Given the description of an element on the screen output the (x, y) to click on. 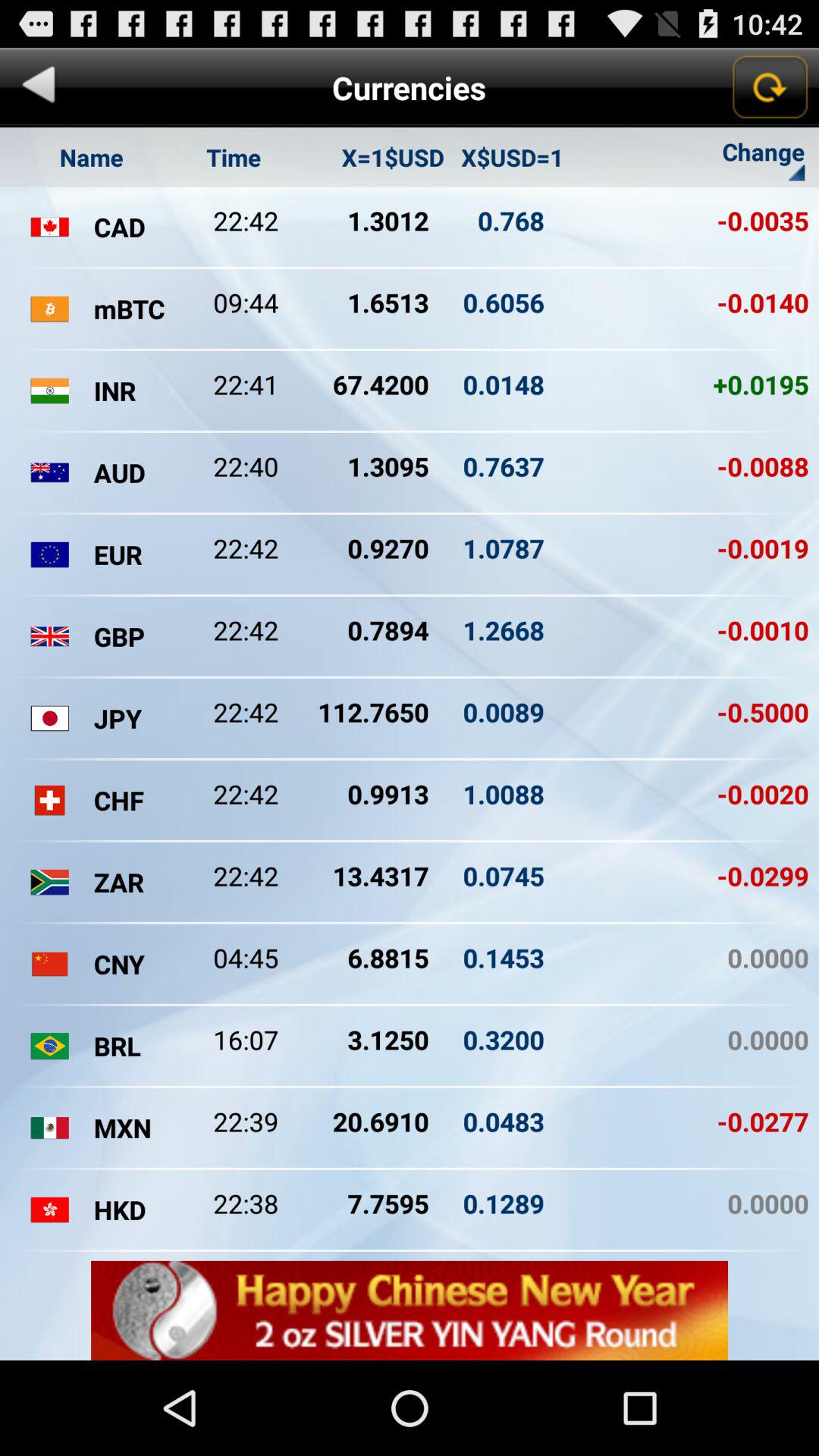
play (39, 87)
